Given the description of an element on the screen output the (x, y) to click on. 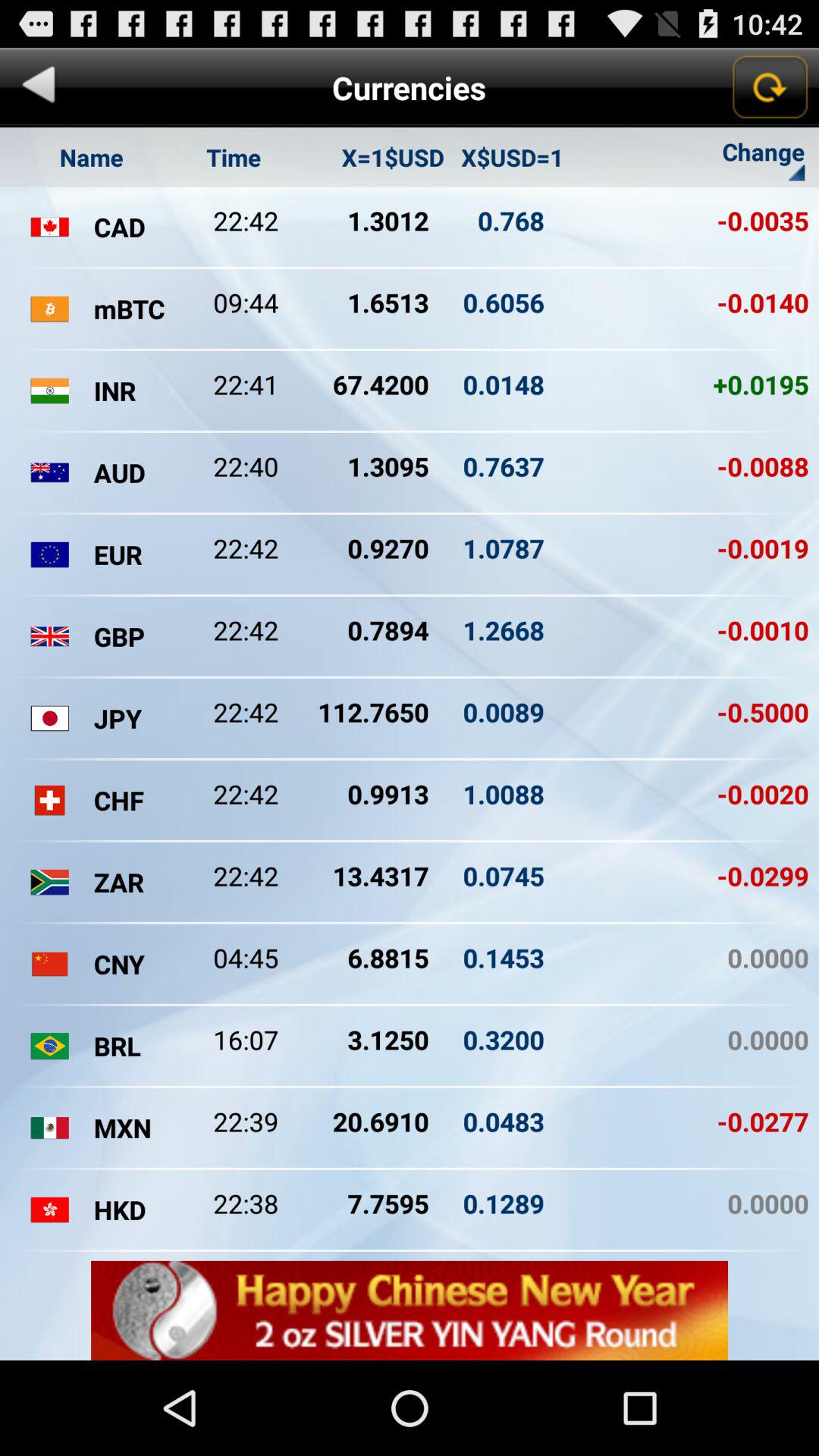
play (39, 87)
